Given the description of an element on the screen output the (x, y) to click on. 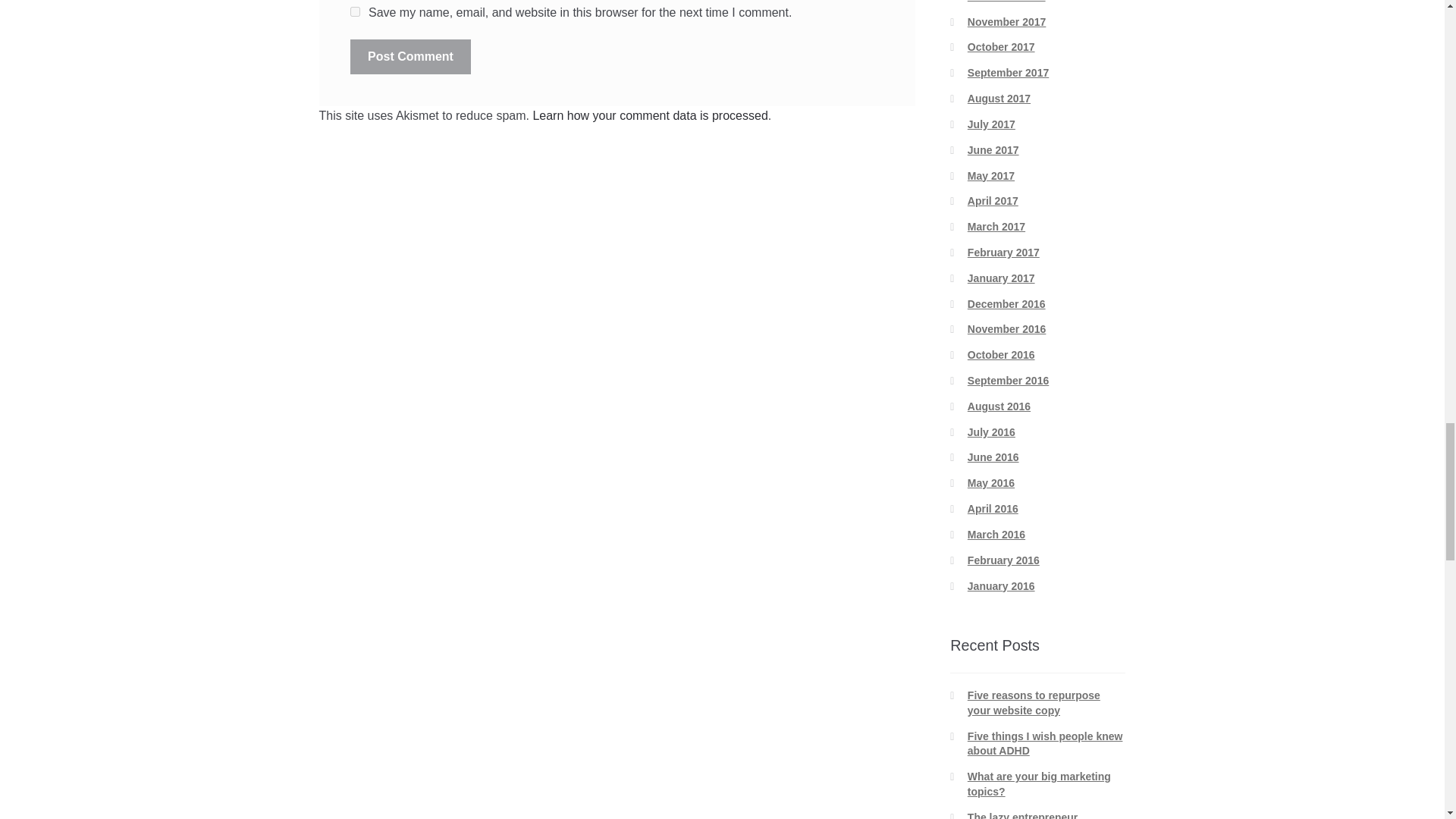
Post Comment (410, 56)
yes (354, 11)
